Given the description of an element on the screen output the (x, y) to click on. 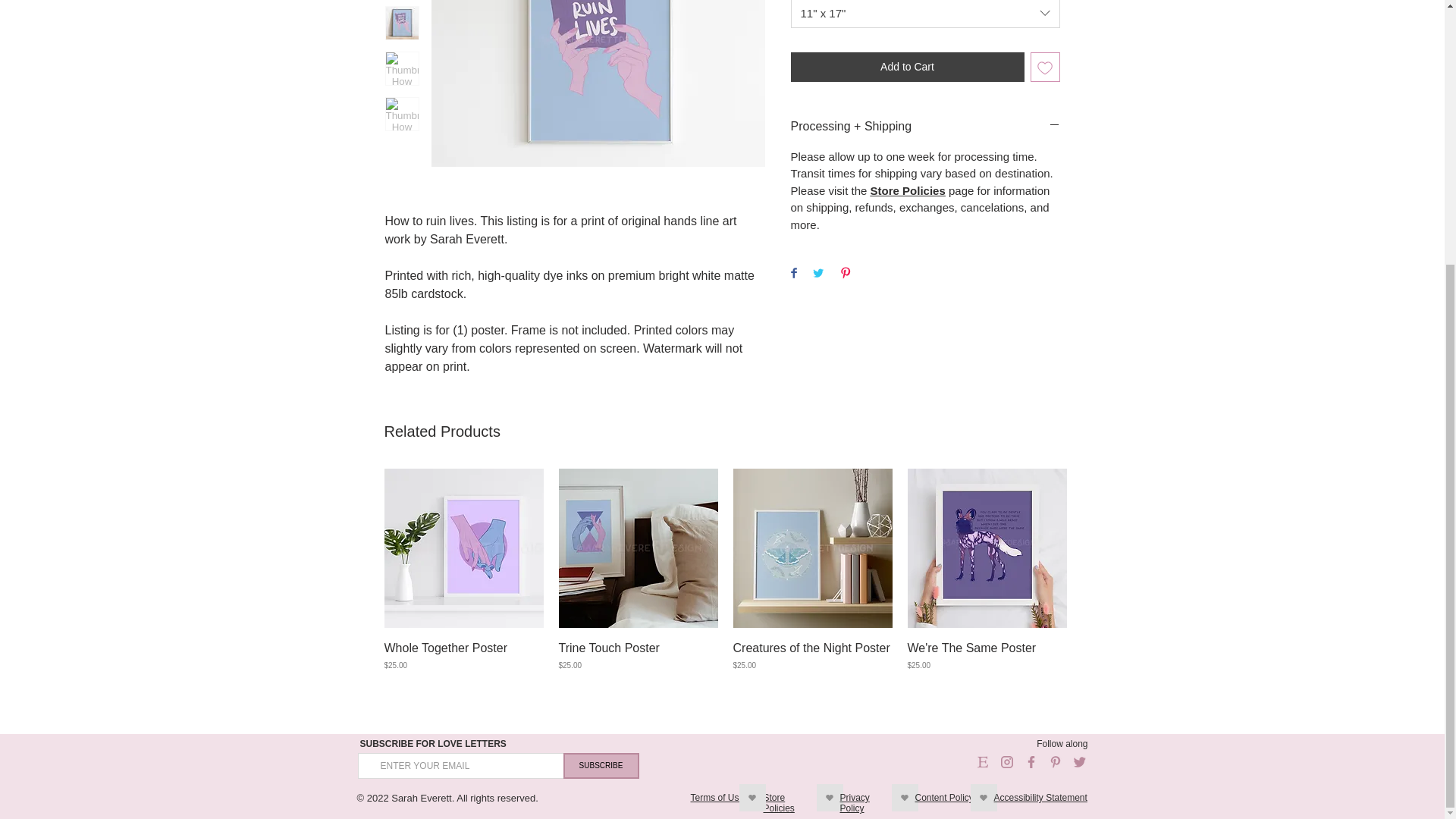
11" x 17" (924, 13)
Add to Cart (906, 66)
Store Policies (907, 190)
